Given the description of an element on the screen output the (x, y) to click on. 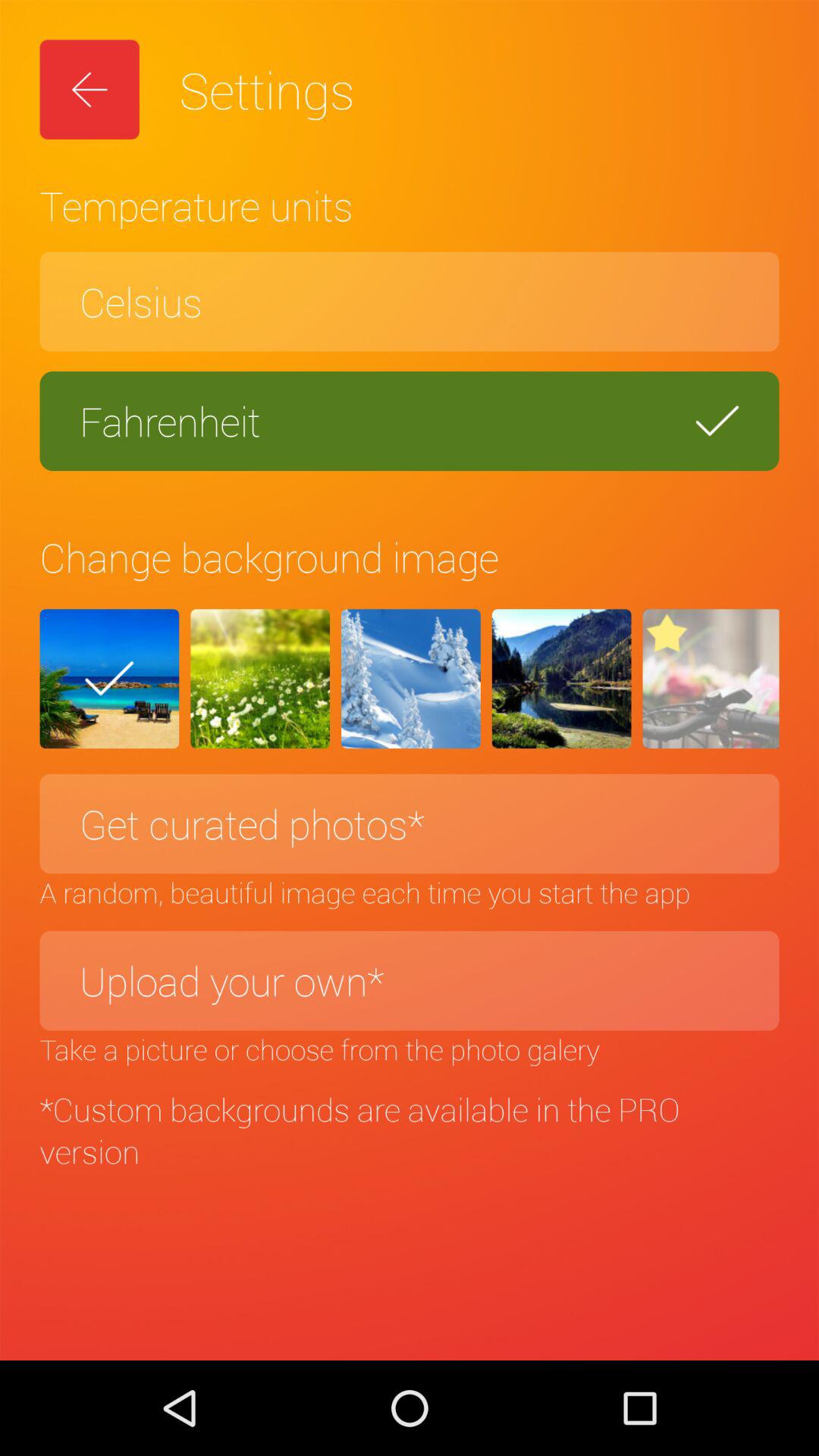
tap the icon above get curated photos* icon (710, 678)
